Given the description of an element on the screen output the (x, y) to click on. 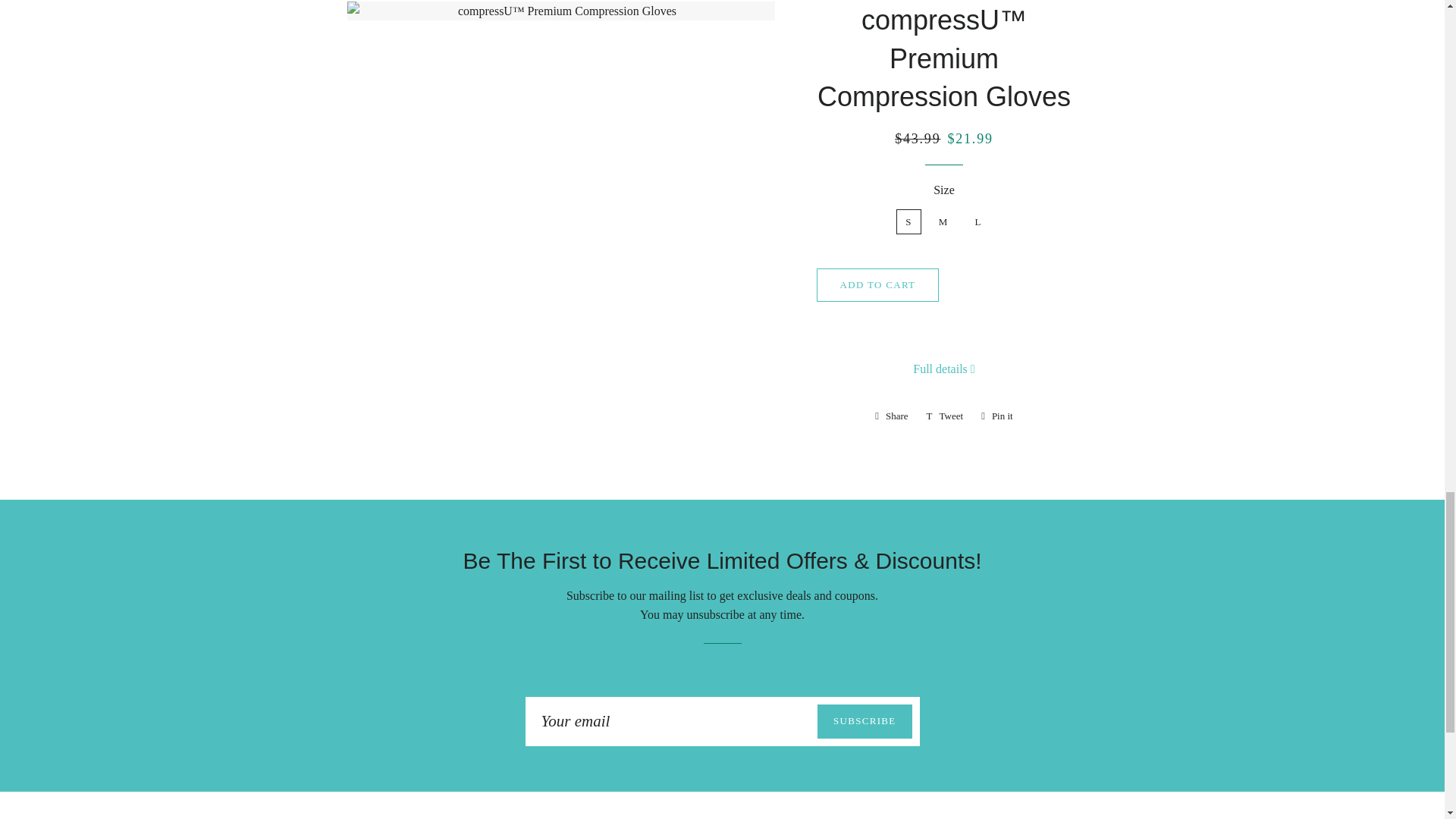
Full details (997, 415)
Pin on Pinterest (943, 368)
S (997, 415)
M (877, 285)
L (891, 415)
